Given the description of an element on the screen output the (x, y) to click on. 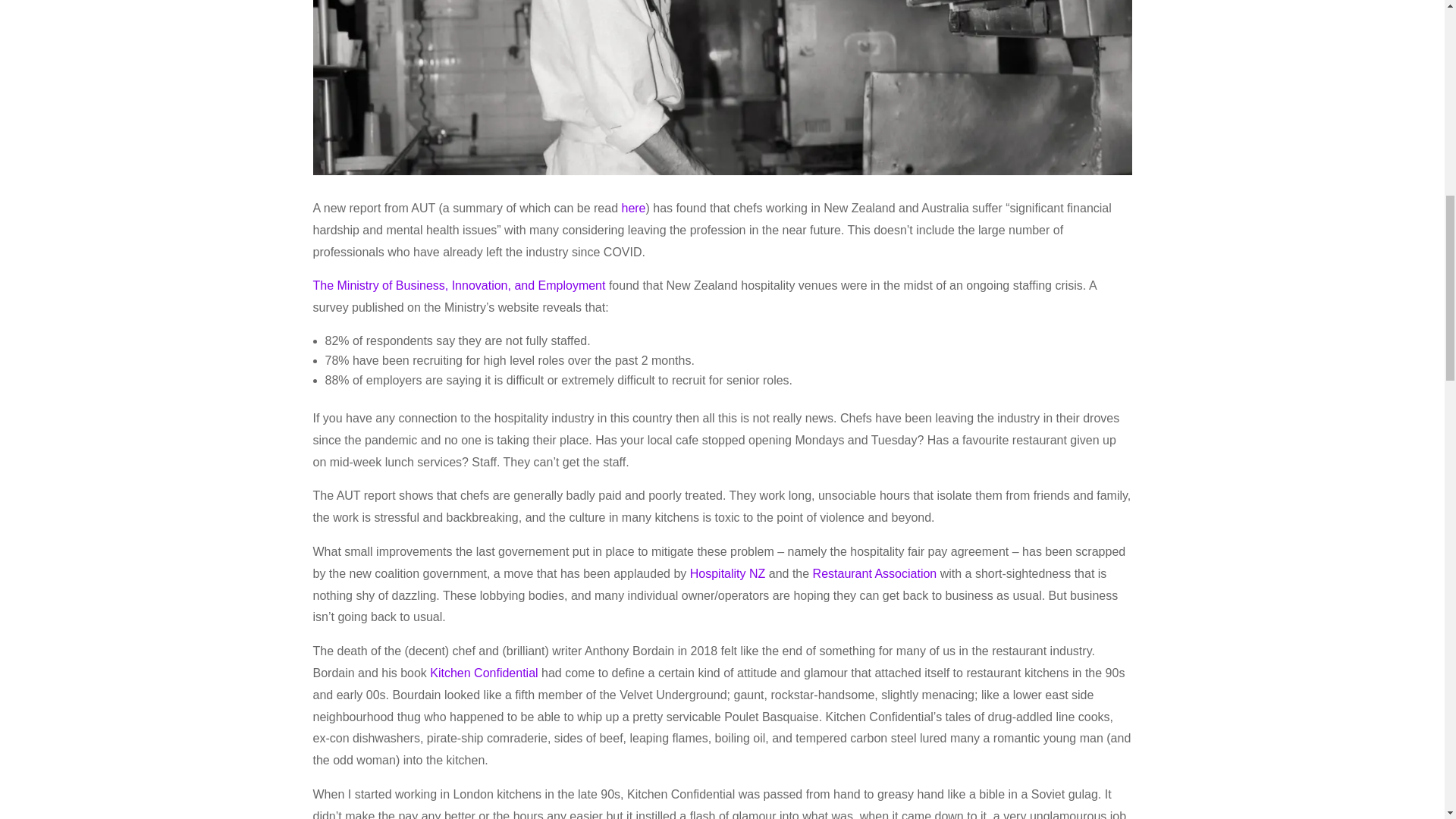
here (633, 207)
Kitchen Confidential (483, 672)
Restaurant Association (874, 573)
The Ministry of Business, Innovation, and Employment (459, 285)
Hospitality NZ (727, 573)
